Given the description of an element on the screen output the (x, y) to click on. 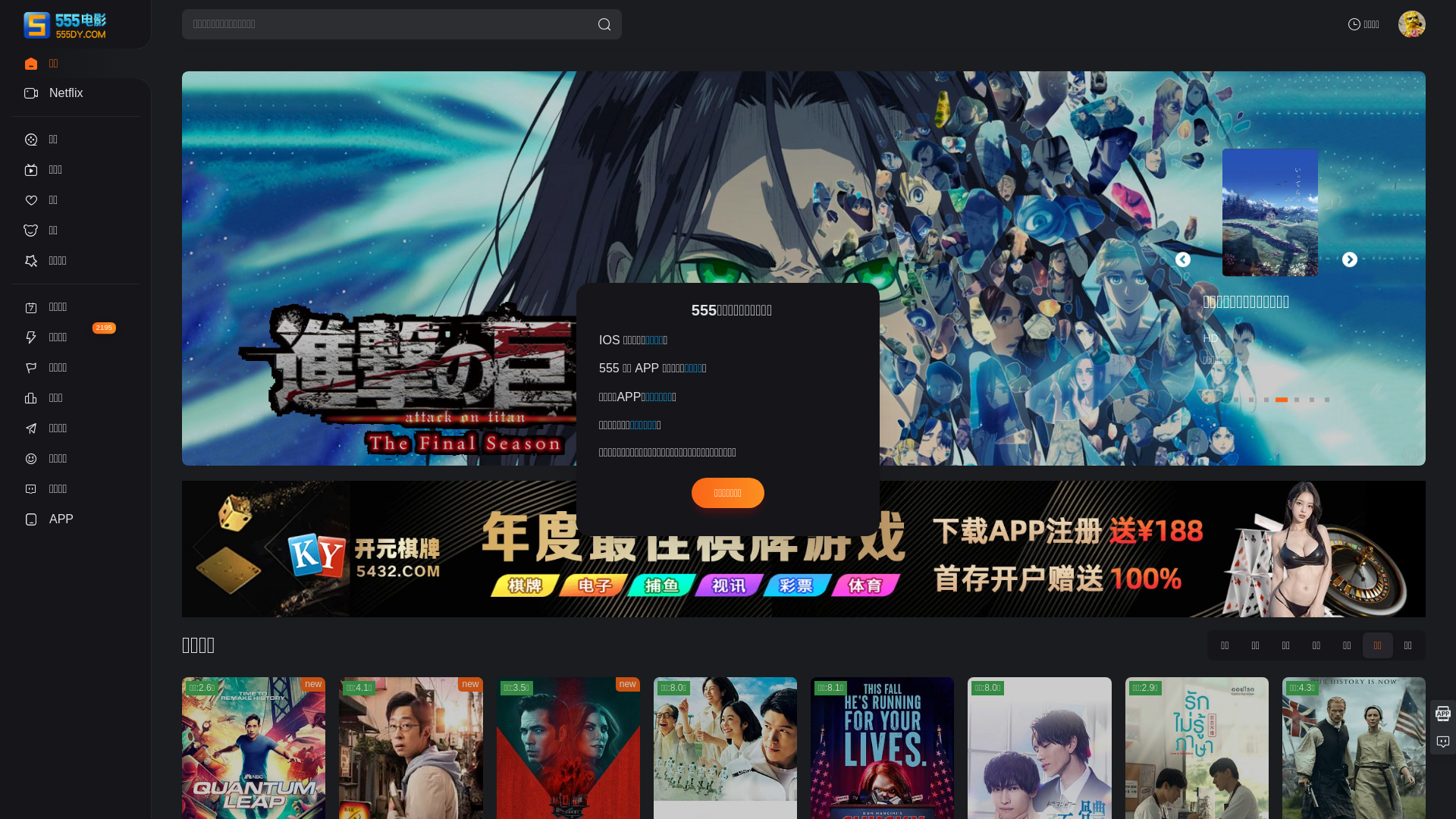
APP Element type: text (75, 519)
Netflix Element type: text (75, 93)
